Given the description of an element on the screen output the (x, y) to click on. 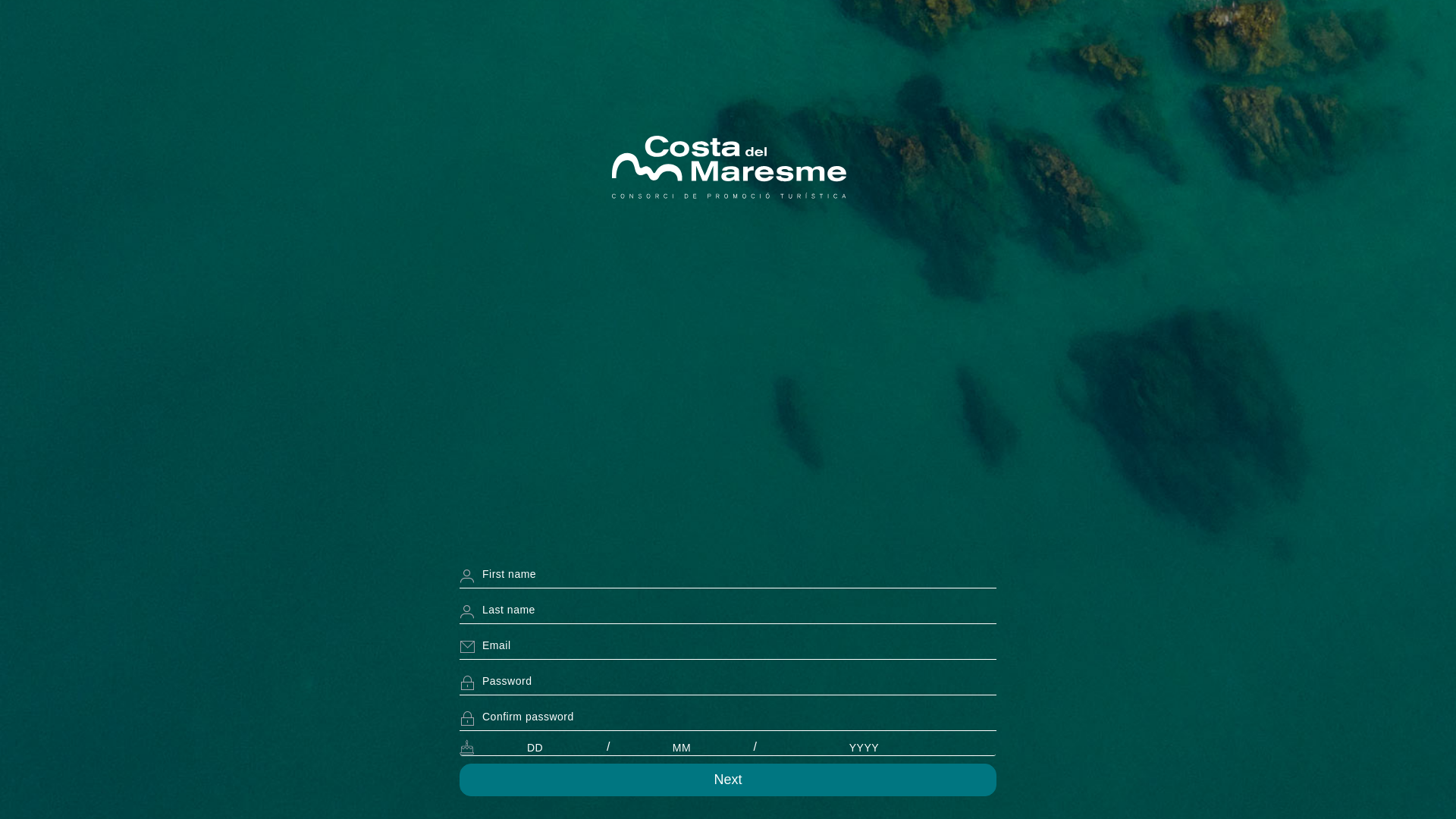
Next Element type: text (727, 779)
